Given the description of an element on the screen output the (x, y) to click on. 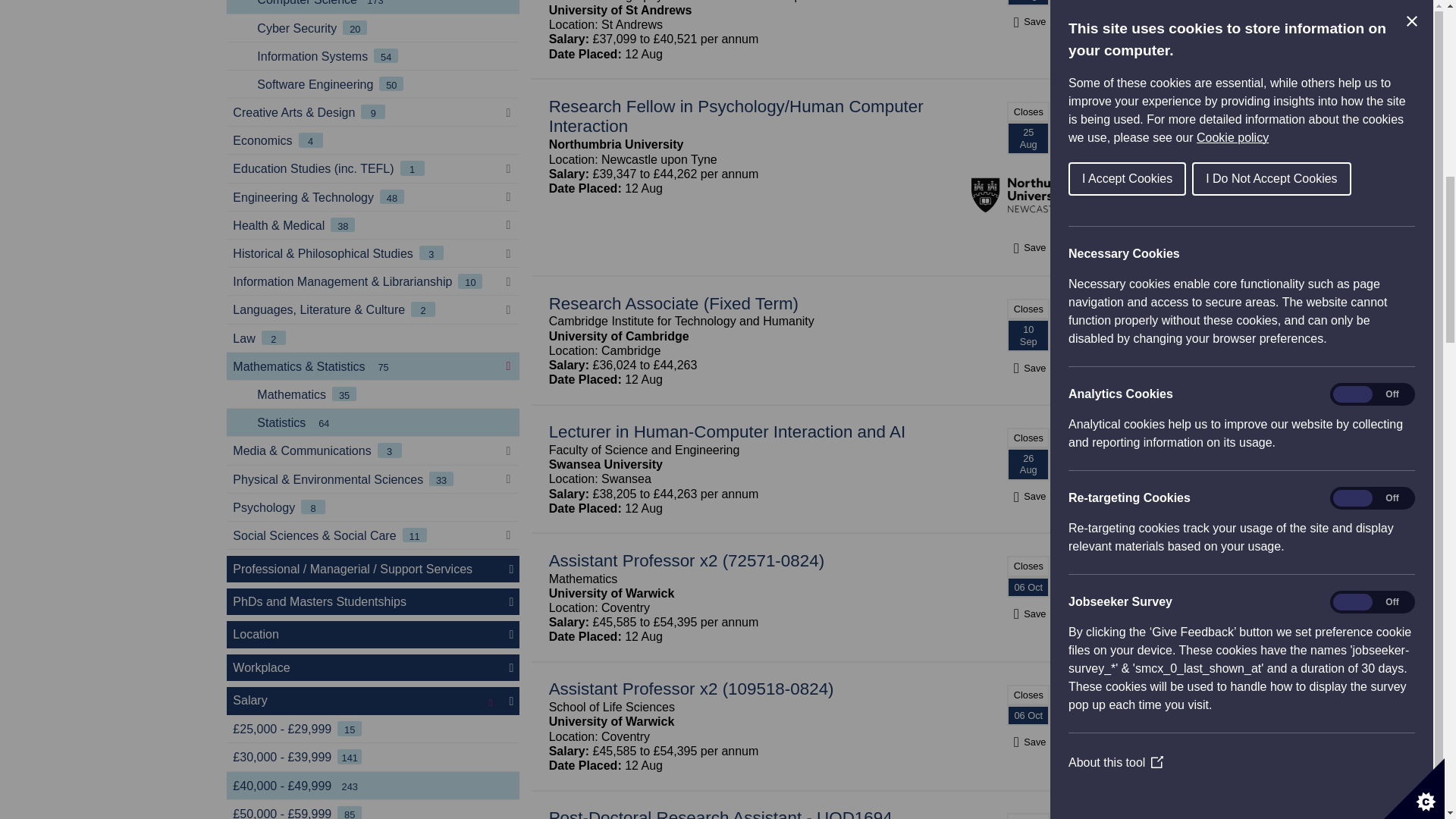
Save job (1027, 741)
Save job (1027, 613)
Save job (1027, 21)
Save job (1027, 247)
Save job (1027, 367)
Save job (1027, 496)
